Given the description of an element on the screen output the (x, y) to click on. 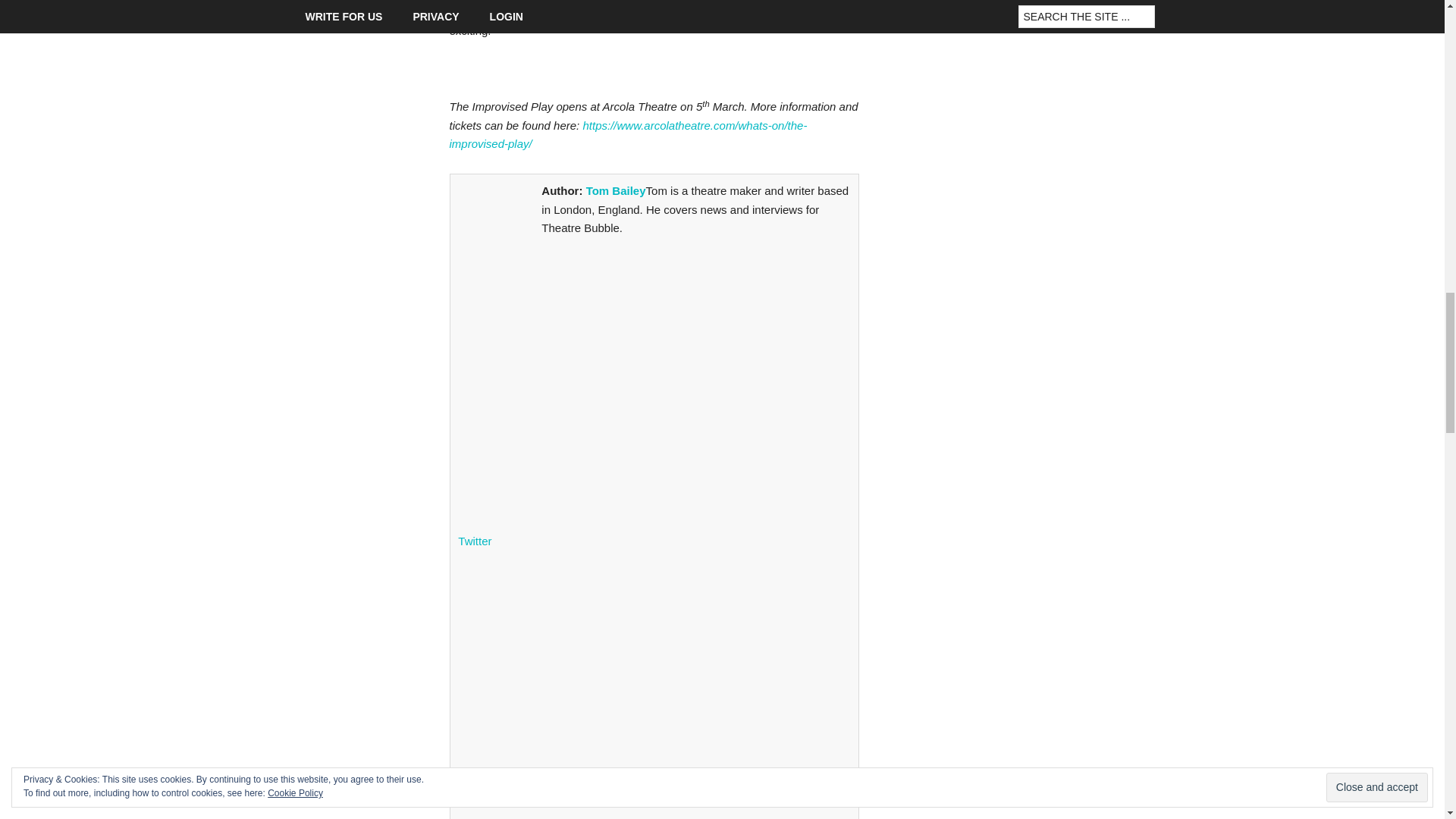
Facebook (653, 810)
Tom Bailey (616, 190)
Twitter (653, 531)
